Given the description of an element on the screen output the (x, y) to click on. 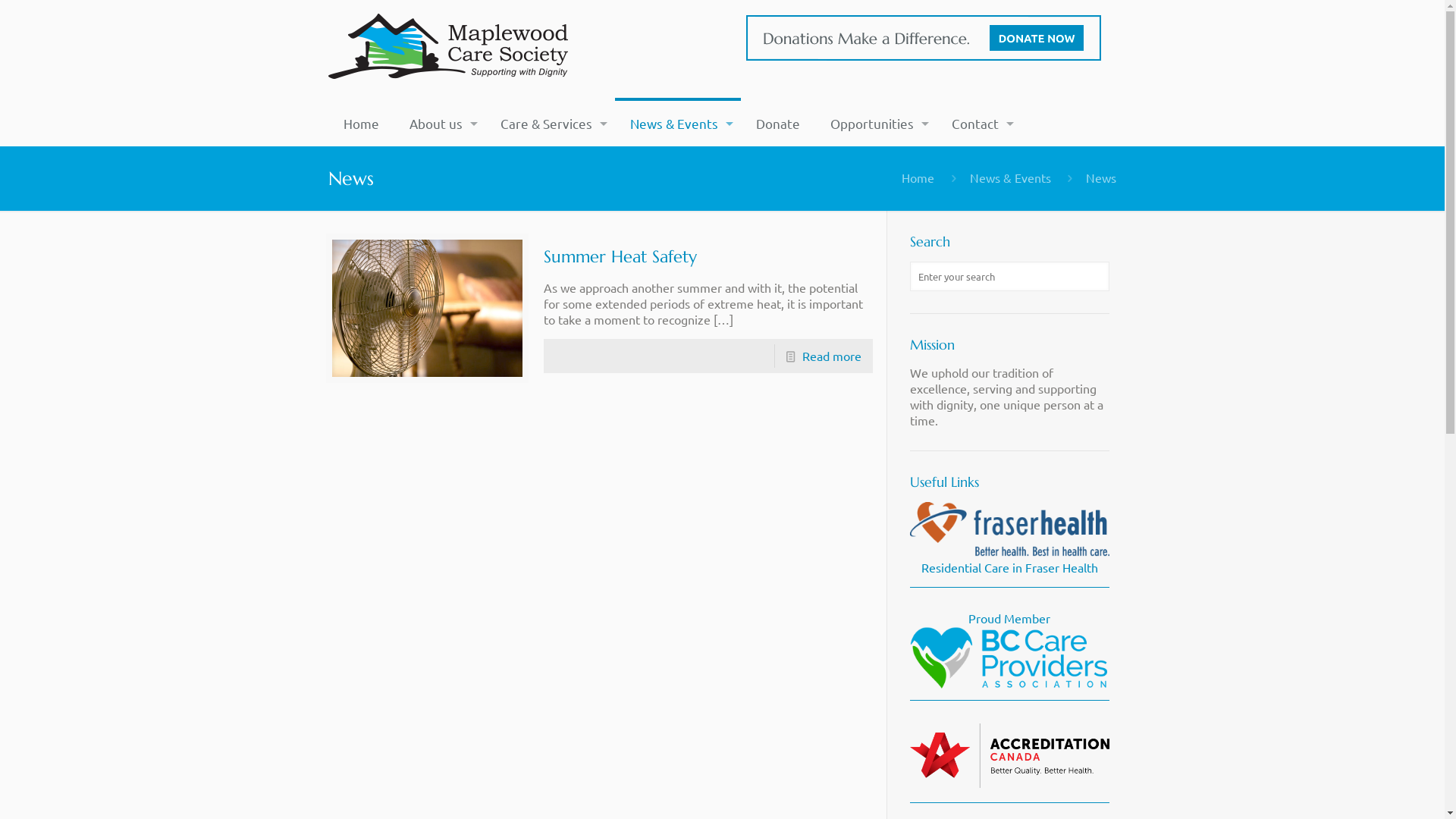
Donate Element type: text (777, 123)
Opportunities Element type: text (875, 123)
Home Element type: text (917, 177)
News & Events Element type: text (677, 123)
Maplewood Care Society Element type: hover (449, 46)
Contact Element type: text (978, 123)
About us Element type: text (439, 123)
Proud Member Element type: text (1009, 648)
Summer Heat Safety Element type: text (619, 256)
Home Element type: text (361, 123)
Read more Element type: text (831, 355)
News & Events Element type: text (1010, 177)
Care & Services Element type: text (550, 123)
Residential Care in Fraser Health Element type: text (1009, 558)
